Given the description of an element on the screen output the (x, y) to click on. 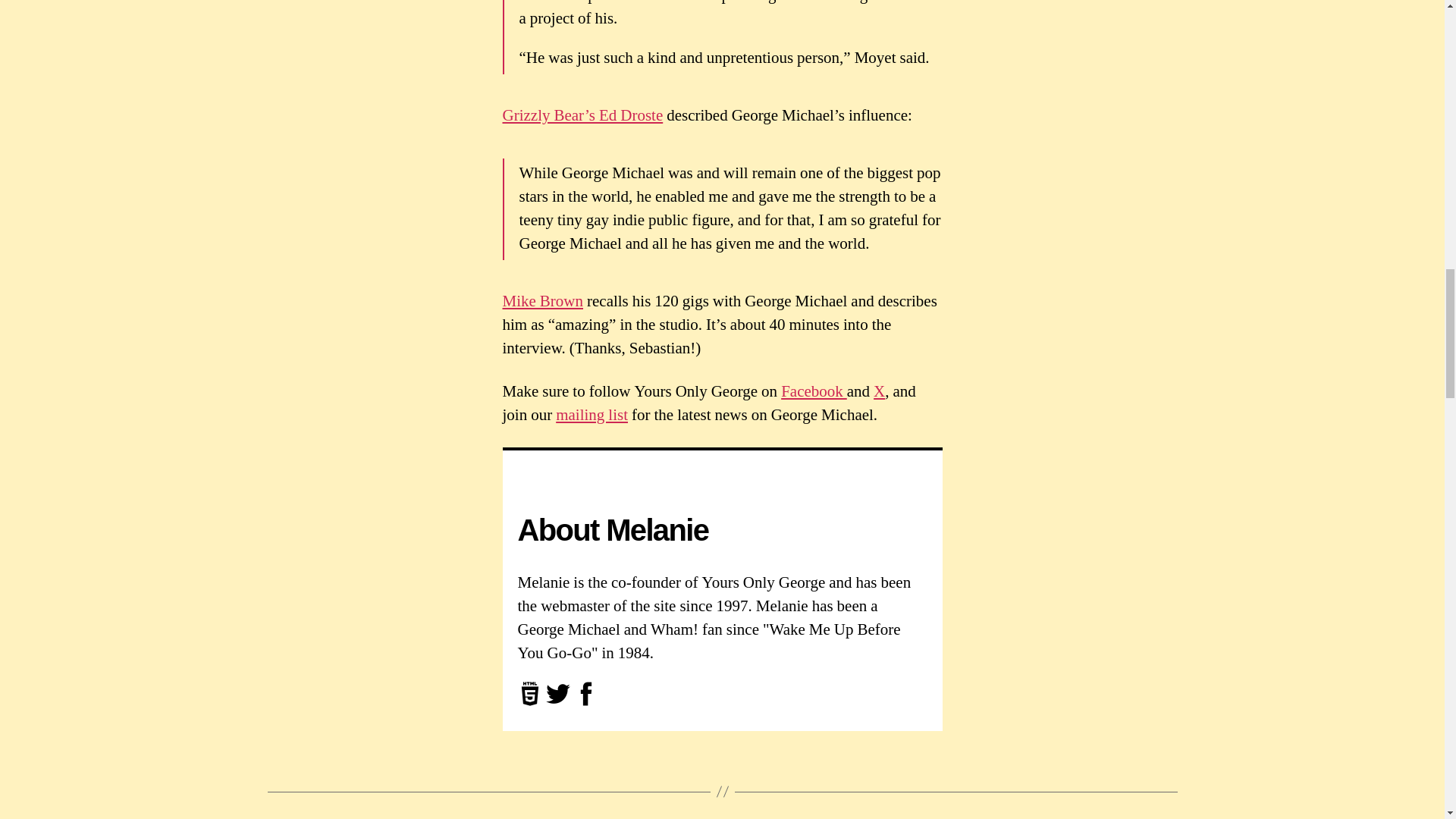
Melanie  On The Web (528, 702)
Melanie  On Facebook (584, 702)
Melanie  On Twitter (558, 702)
